Given the description of an element on the screen output the (x, y) to click on. 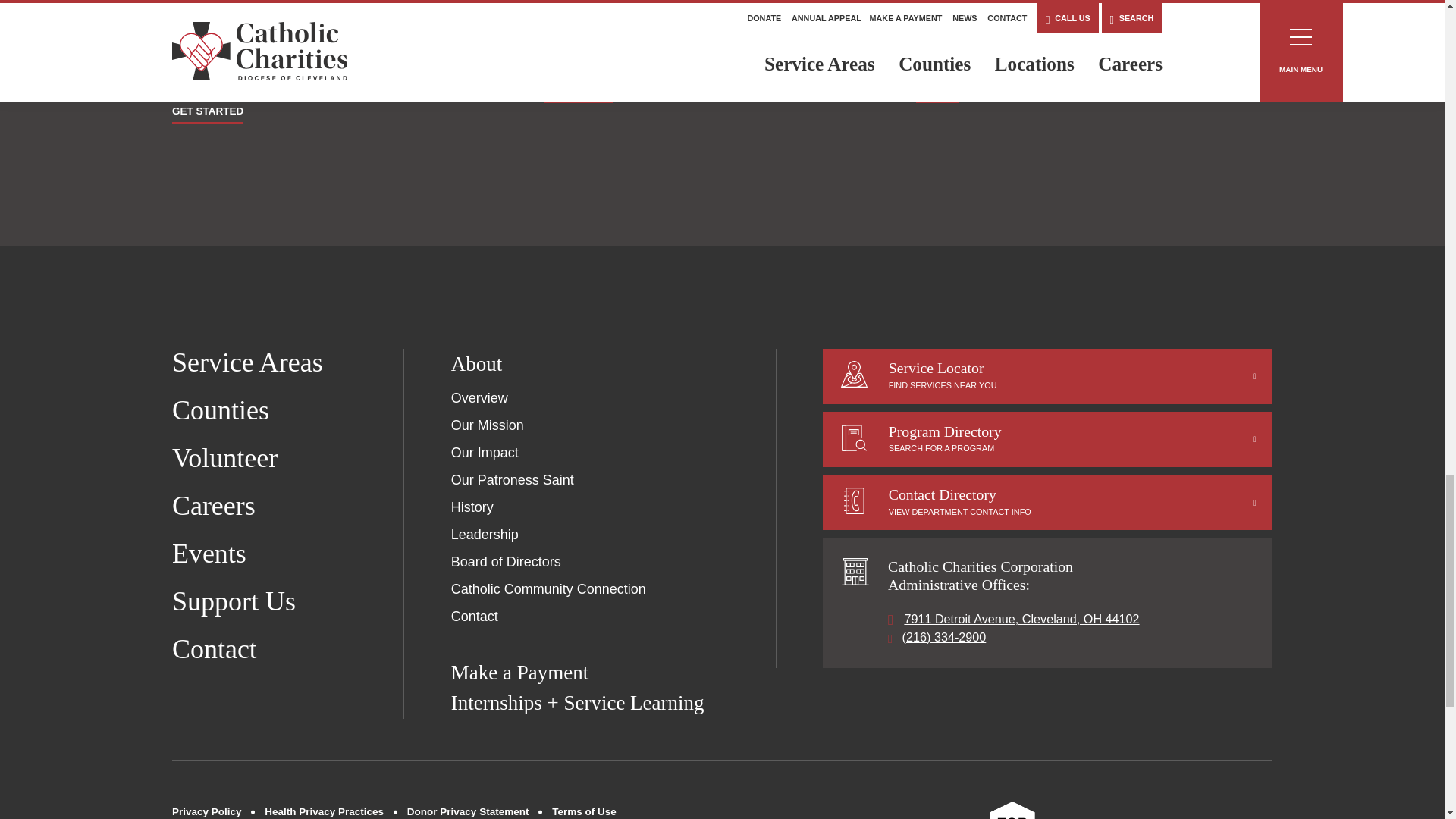
Our Mission (487, 425)
Volunteer with Us (721, 61)
Our Patroness Saint (512, 479)
Leadership (484, 534)
Telehealth Services Available (349, 71)
Our Impact (484, 452)
Board of Directors (505, 561)
History (472, 507)
Give Hope Today (1093, 61)
Overview (479, 397)
